Given the description of an element on the screen output the (x, y) to click on. 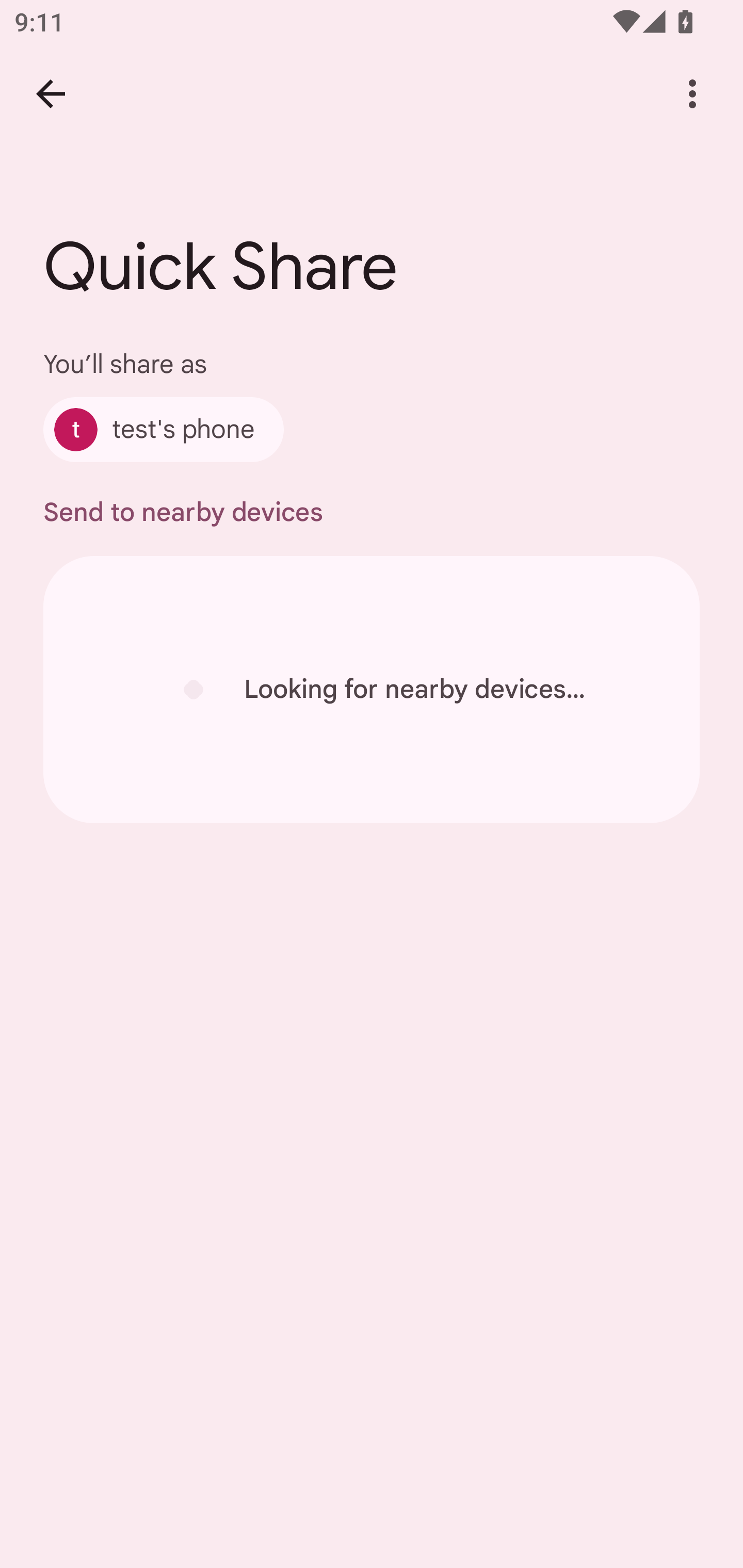
Back (50, 93)
More (692, 93)
test's phone (163, 429)
